Given the description of an element on the screen output the (x, y) to click on. 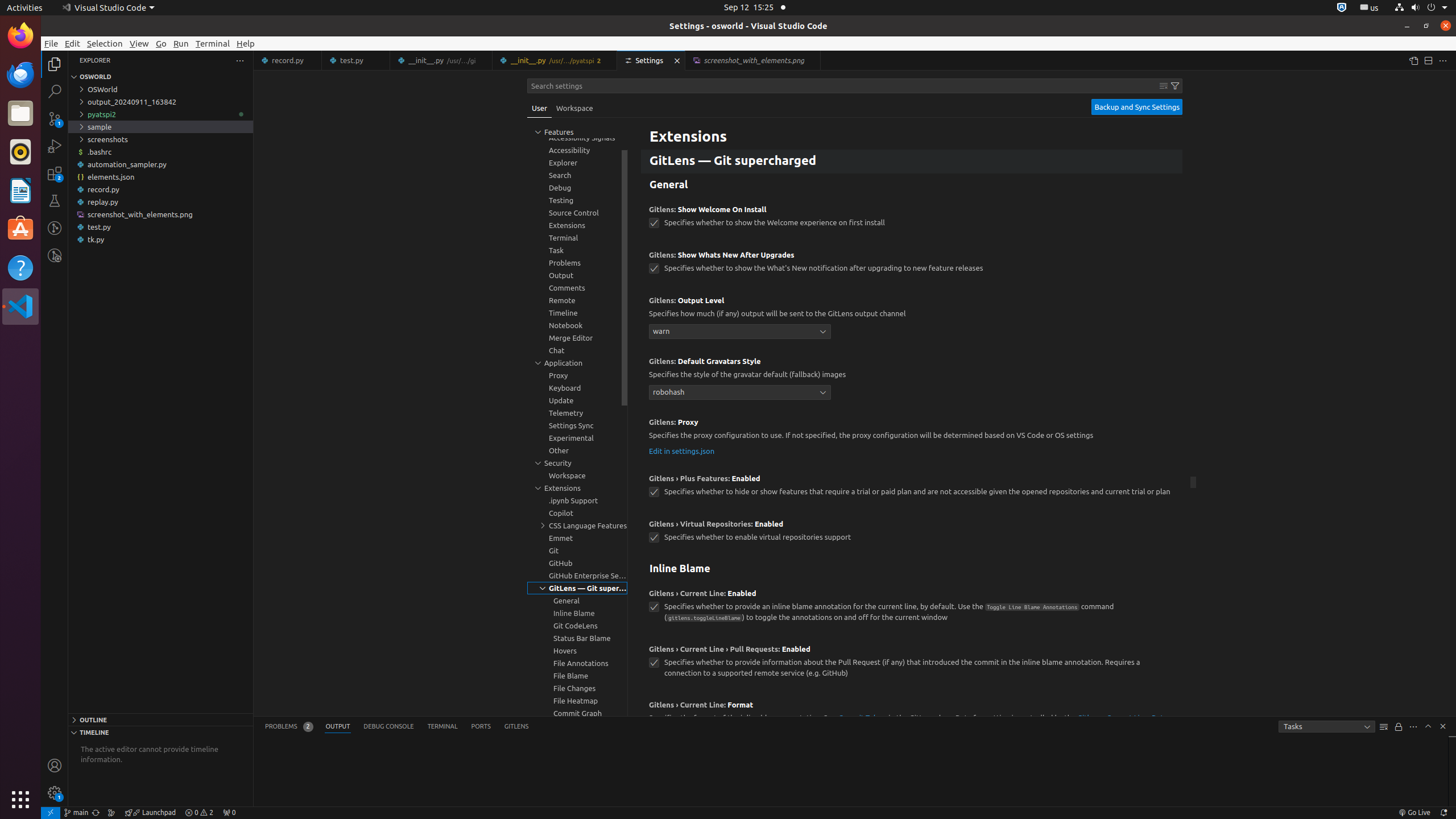
File Element type: push-button (50, 43)
OSWorld (Git) - Synchronize Changes Element type: push-button (95, 812)
Merge Editor, group Element type: tree-item (577, 337)
Telemetry, group Element type: tree-item (577, 412)
Gitlens Proxy. Specifies the proxy configuration to use. If not specified, the proxy configuration will be determined based on VS Code or OS settings  Element type: tree-item (911, 438)
